Given the description of an element on the screen output the (x, y) to click on. 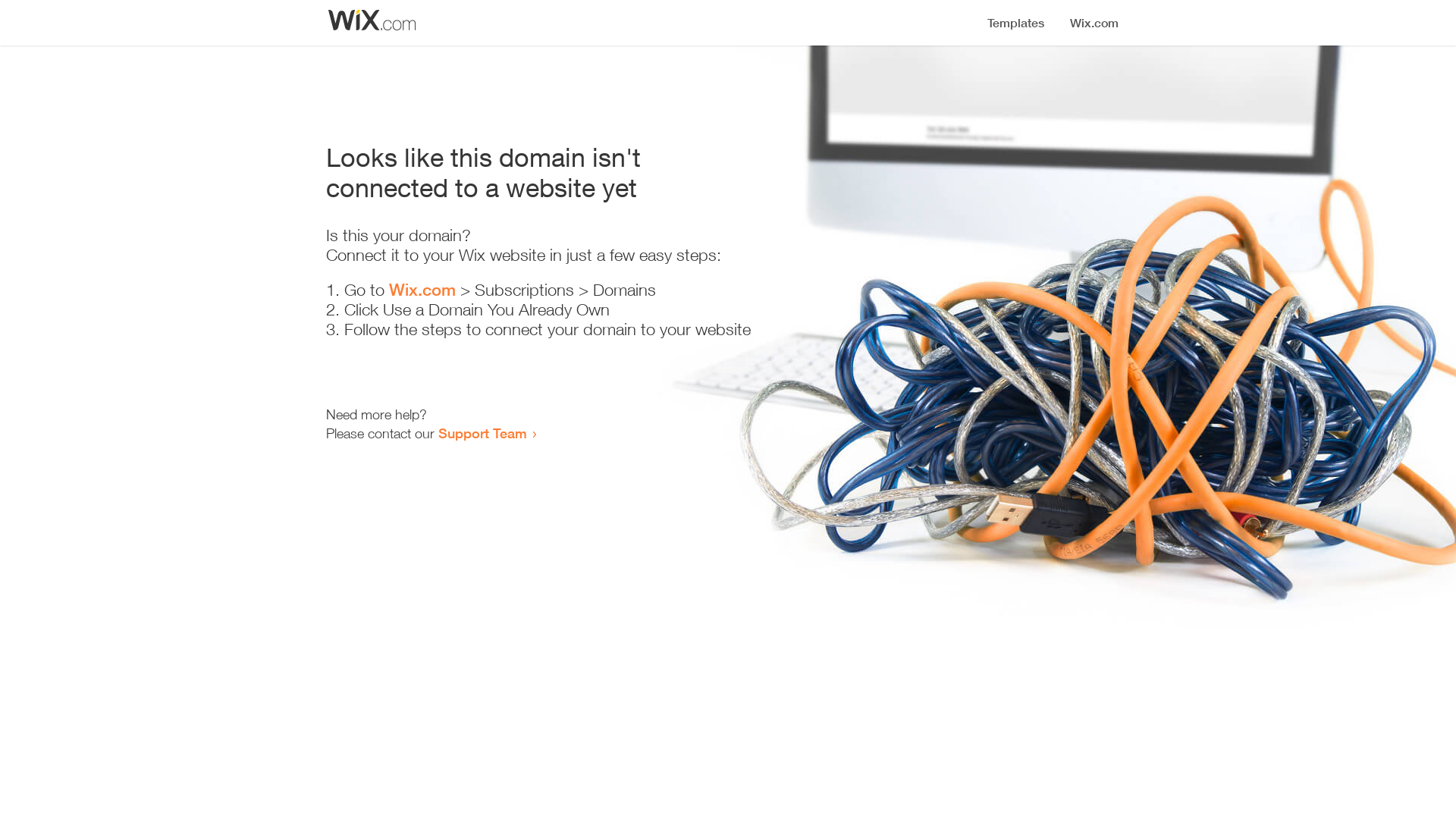
Support Team Element type: text (482, 432)
Wix.com Element type: text (422, 289)
